Given the description of an element on the screen output the (x, y) to click on. 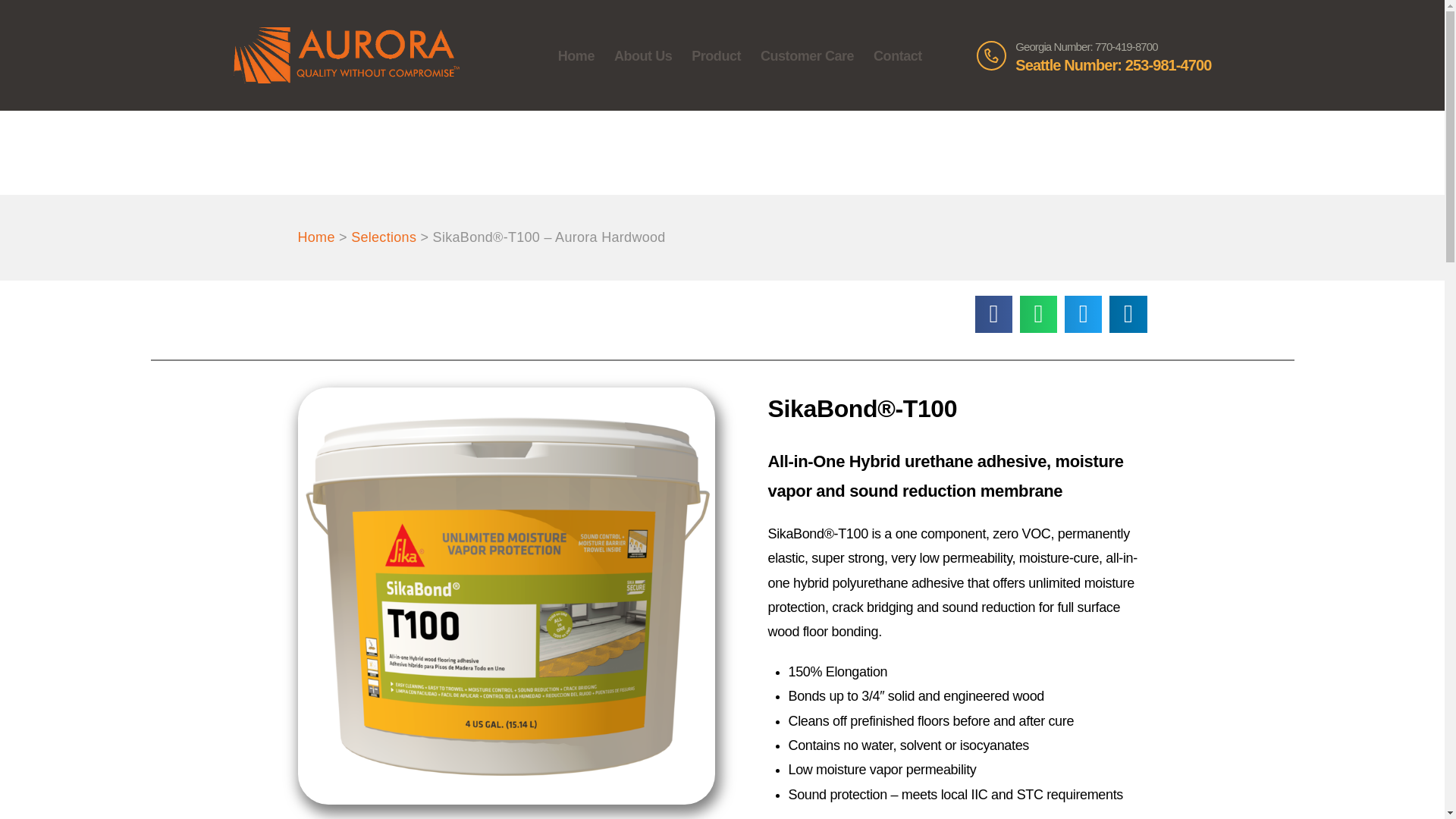
Product (716, 55)
Customer Care (807, 55)
Contact (897, 55)
About Us (642, 55)
Home (576, 55)
